Given the description of an element on the screen output the (x, y) to click on. 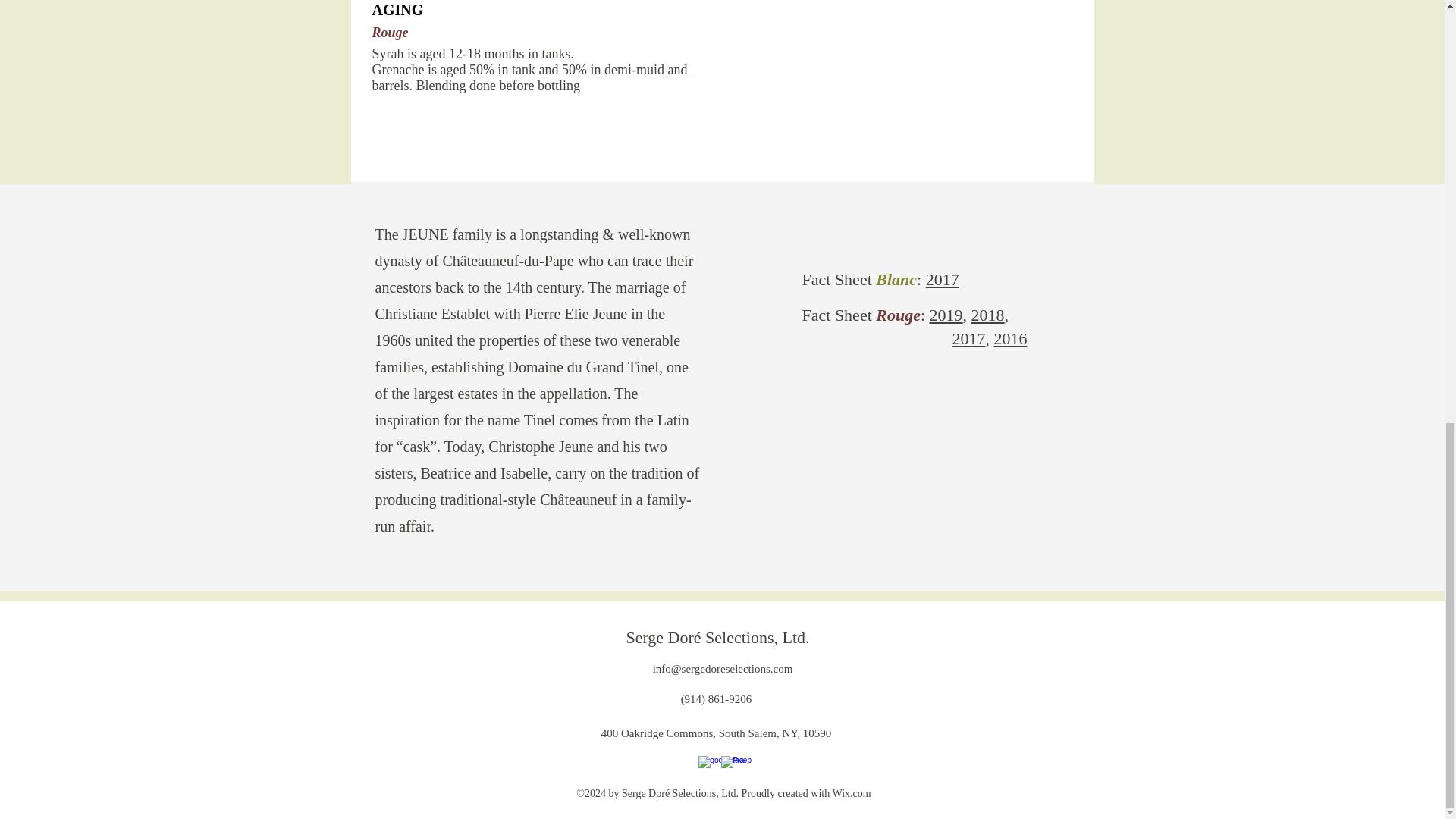
2019 (946, 314)
2018 (987, 314)
2016 (1009, 338)
2017 (968, 338)
2017 (942, 279)
